Given the description of an element on the screen output the (x, y) to click on. 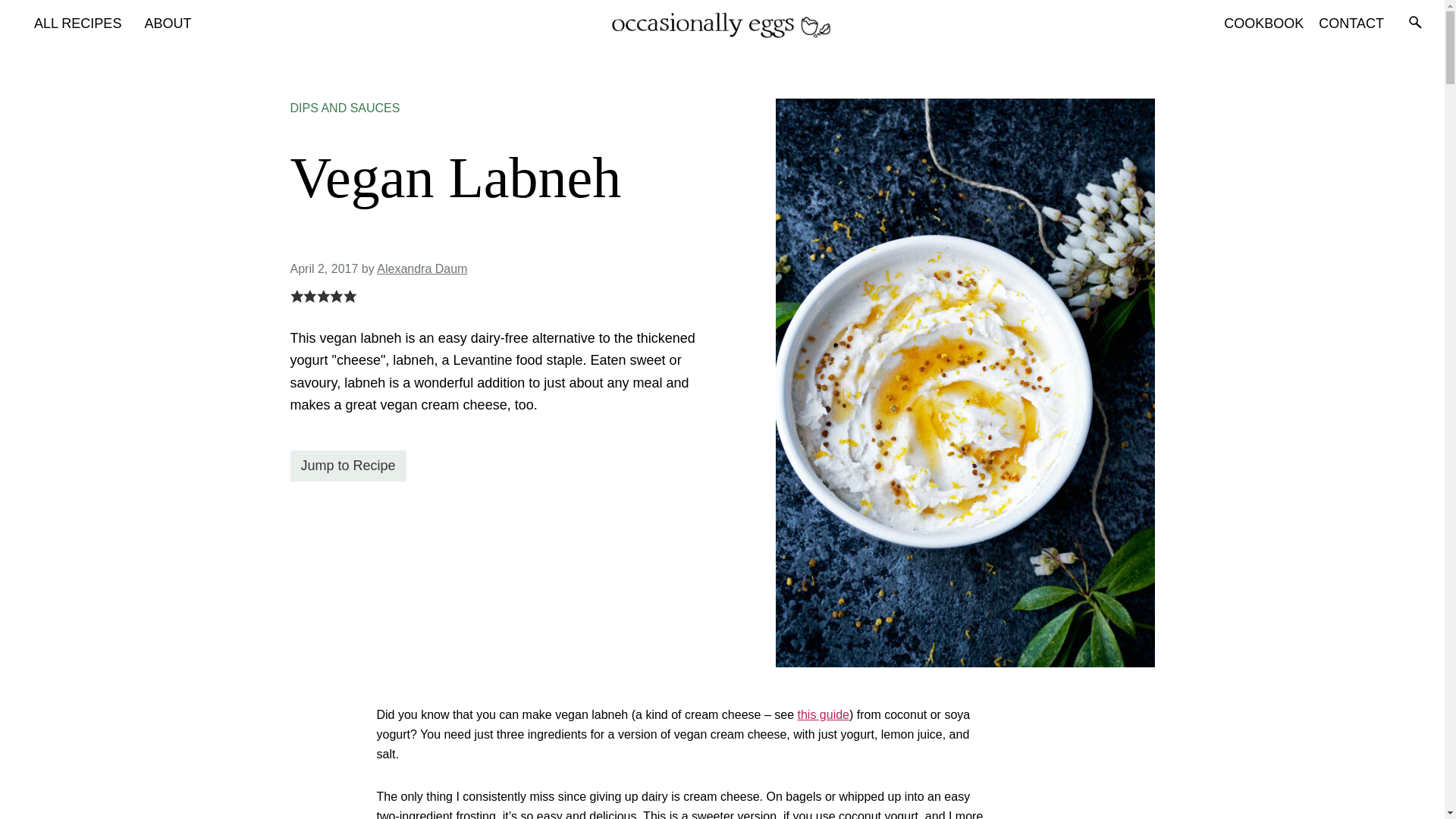
Alexandra Daum (422, 268)
Jump to Recipe (347, 465)
DIPS AND SAUCES (343, 107)
ALL RECIPES (77, 23)
COOKBOOK (1263, 22)
this guide (823, 714)
CONTACT (1351, 22)
